Given the description of an element on the screen output the (x, y) to click on. 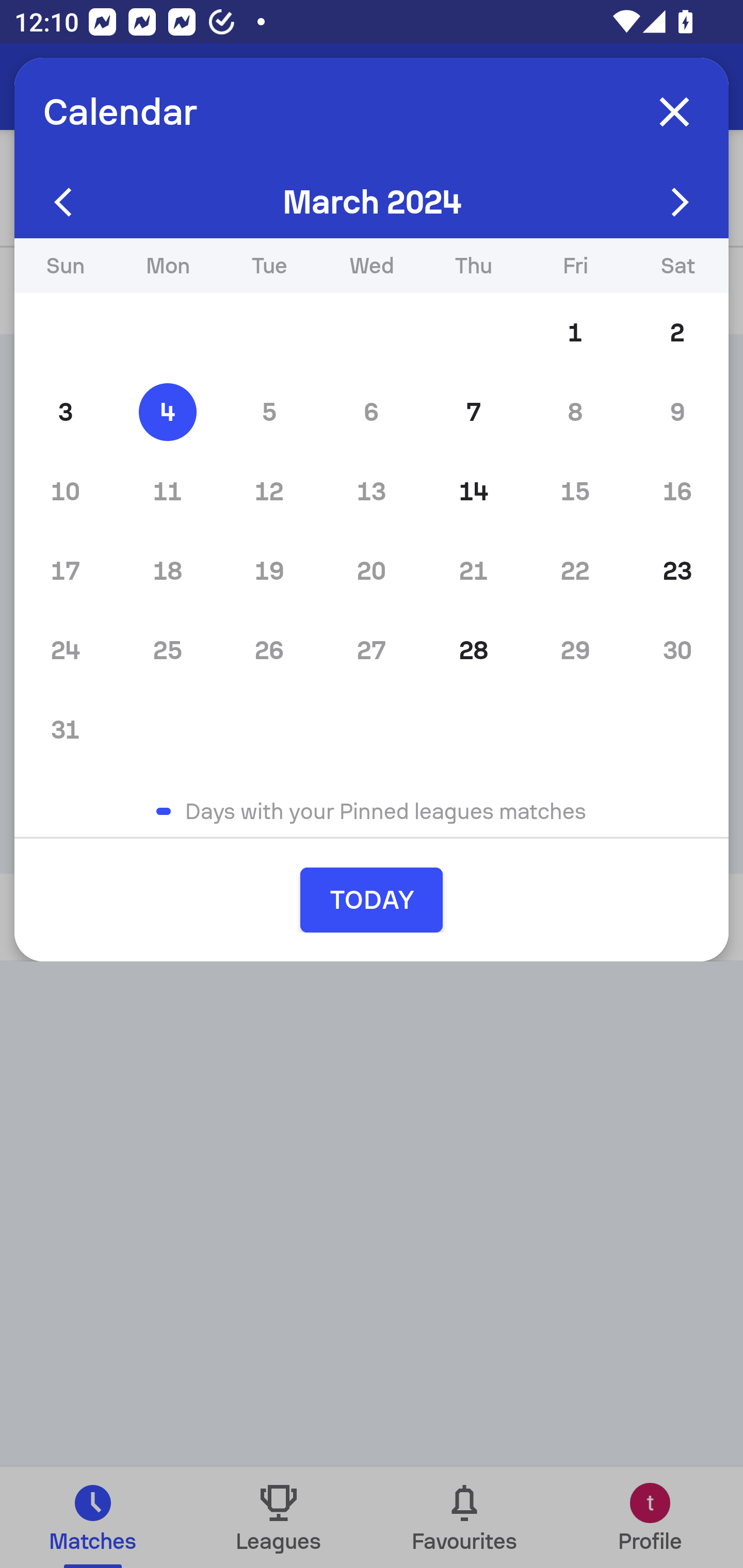
1 (575, 333)
2 (677, 333)
3 (65, 412)
4 (167, 412)
5 (269, 412)
6 (371, 412)
7 (473, 412)
8 (575, 412)
9 (677, 412)
10 (65, 491)
11 (167, 491)
12 (269, 491)
13 (371, 491)
14 (473, 491)
15 (575, 491)
16 (677, 491)
17 (65, 570)
18 (167, 570)
19 (269, 570)
20 (371, 570)
21 (473, 570)
22 (575, 570)
23 (677, 570)
24 (65, 649)
25 (167, 649)
26 (269, 649)
27 (371, 649)
28 (473, 649)
29 (575, 649)
30 (677, 649)
31 (65, 729)
TODAY (371, 899)
